Given the description of an element on the screen output the (x, y) to click on. 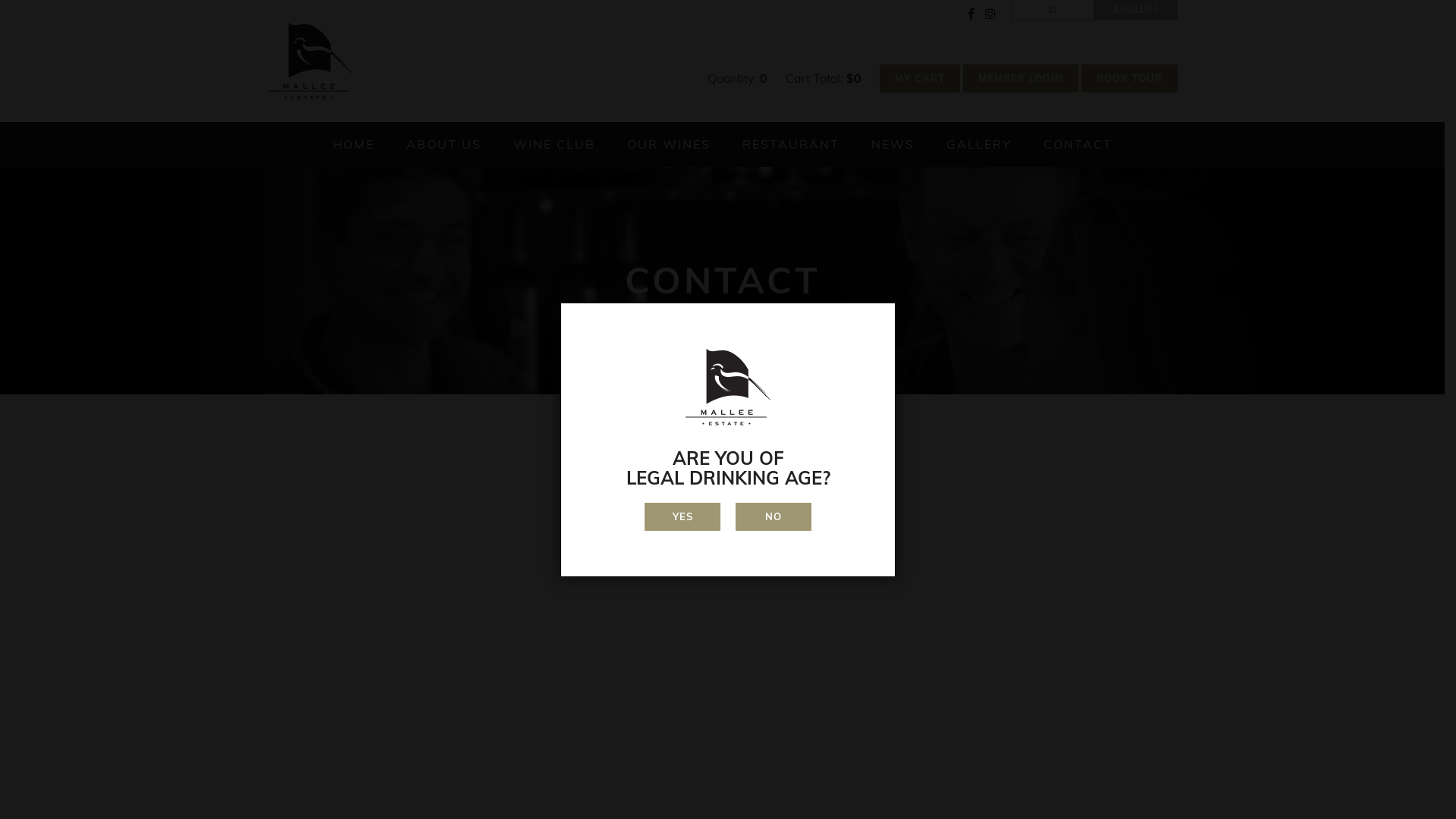
YES Element type: text (682, 516)
CONTACT Element type: text (1077, 144)
MEMBER LOGIN Element type: text (1020, 78)
GALLERY Element type: text (978, 144)
OUR WINES Element type: text (667, 144)
WINE CLUB Element type: text (553, 144)
ABOUT US Element type: text (443, 144)
RESTAURANT Element type: text (789, 144)
BOOK TOUR Element type: text (1129, 78)
HOME Element type: text (352, 144)
ENGLISH Element type: text (1135, 9)
NEWS Element type: text (891, 144)
NO Element type: text (773, 516)
MY CART Element type: text (919, 78)
